Given the description of an element on the screen output the (x, y) to click on. 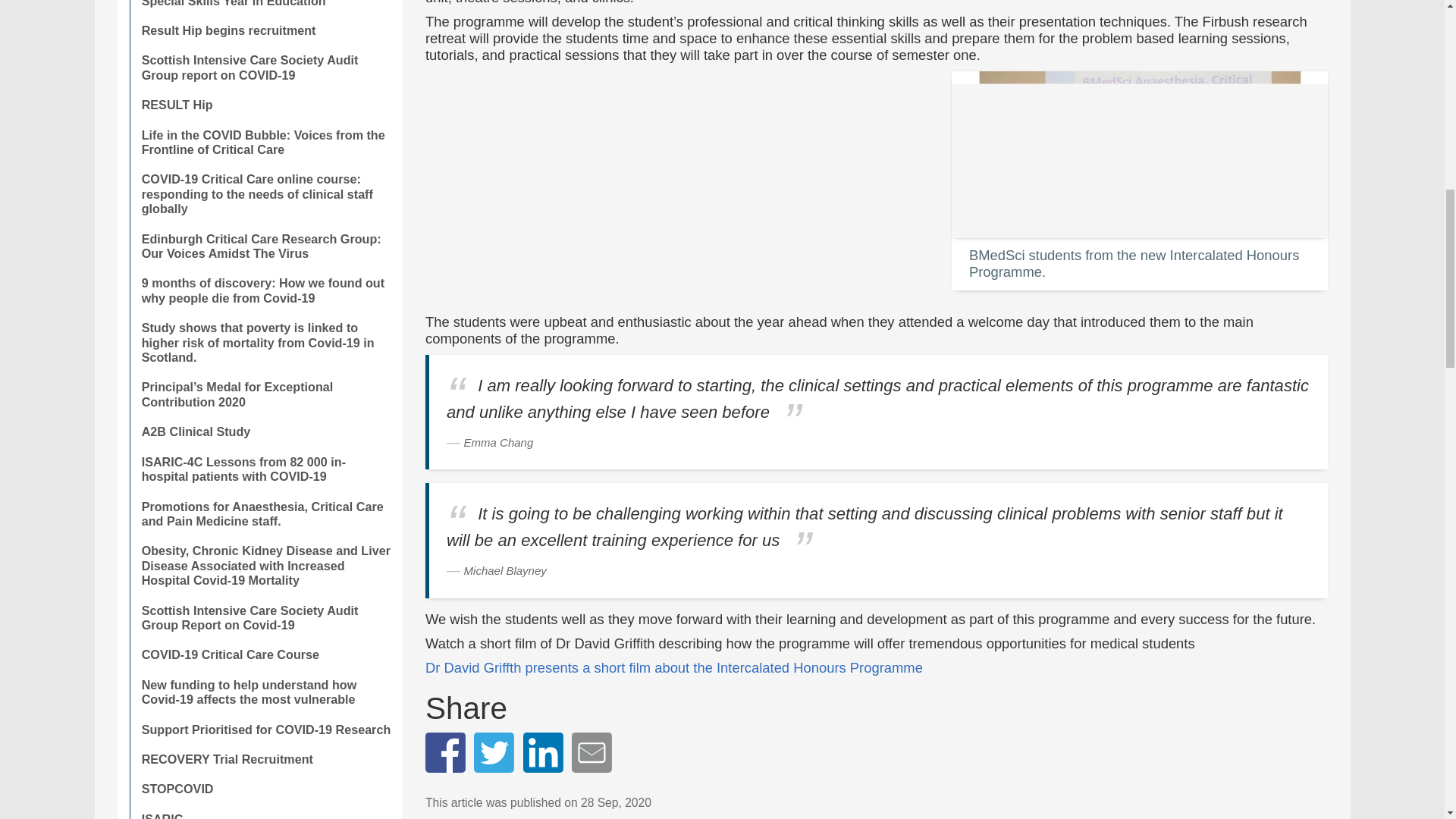
Special Skills Year in Education (266, 7)
COVID-19 Critical Care Course (266, 654)
A2B Clinical Study (266, 431)
Support Prioritised for COVID-19 Research (266, 729)
ISARIC (266, 811)
